Given the description of an element on the screen output the (x, y) to click on. 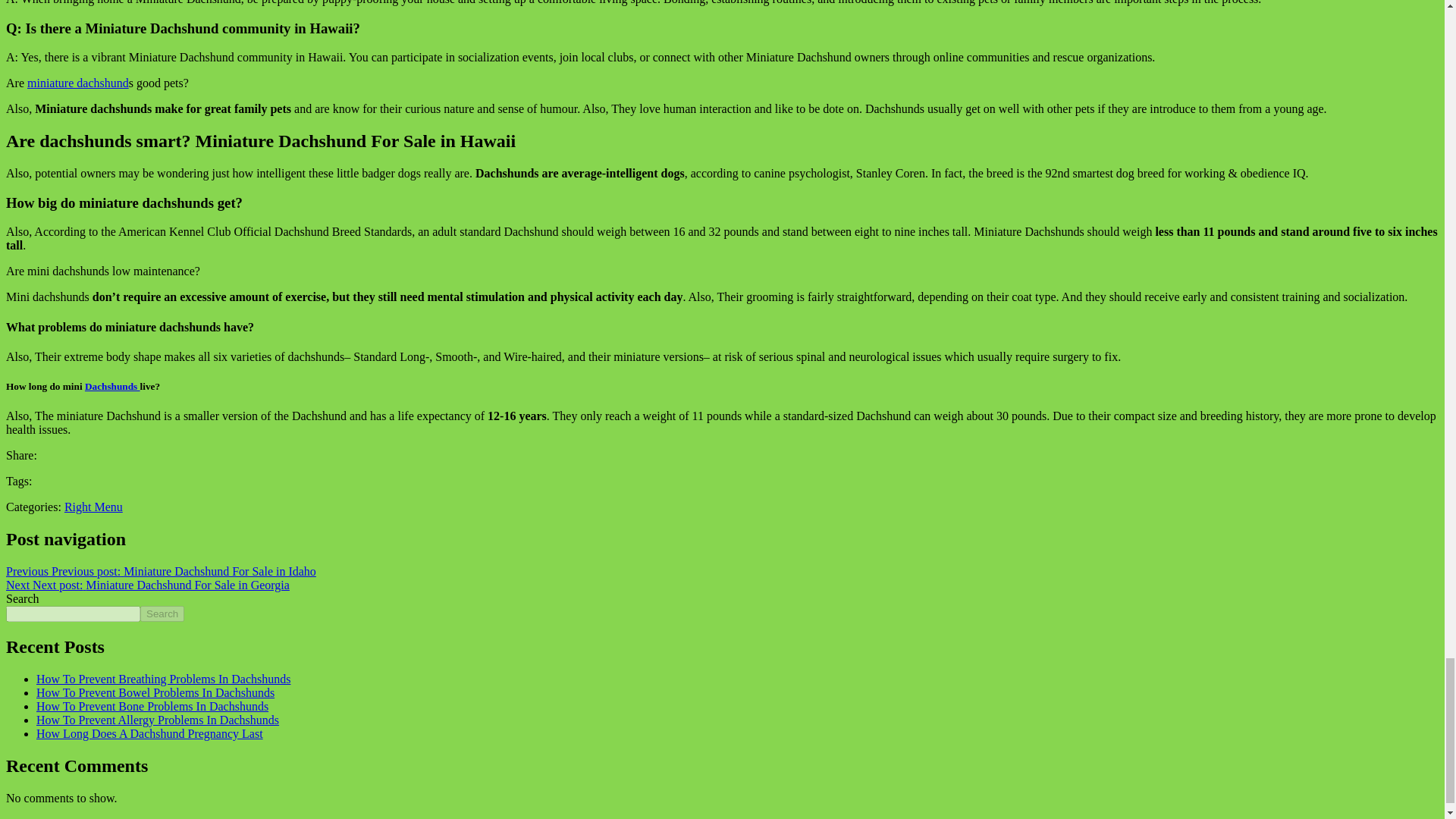
How To Prevent Bone Problems In Dachshunds (151, 706)
miniature dachshund (78, 82)
How To Prevent Bowel Problems In Dachshunds (155, 692)
Next Next post: Miniature Dachshund For Sale in Georgia (147, 584)
Right Menu (93, 506)
Search (161, 613)
How To Prevent Breathing Problems In Dachshunds (162, 678)
Dachshunds (111, 386)
